Given the description of an element on the screen output the (x, y) to click on. 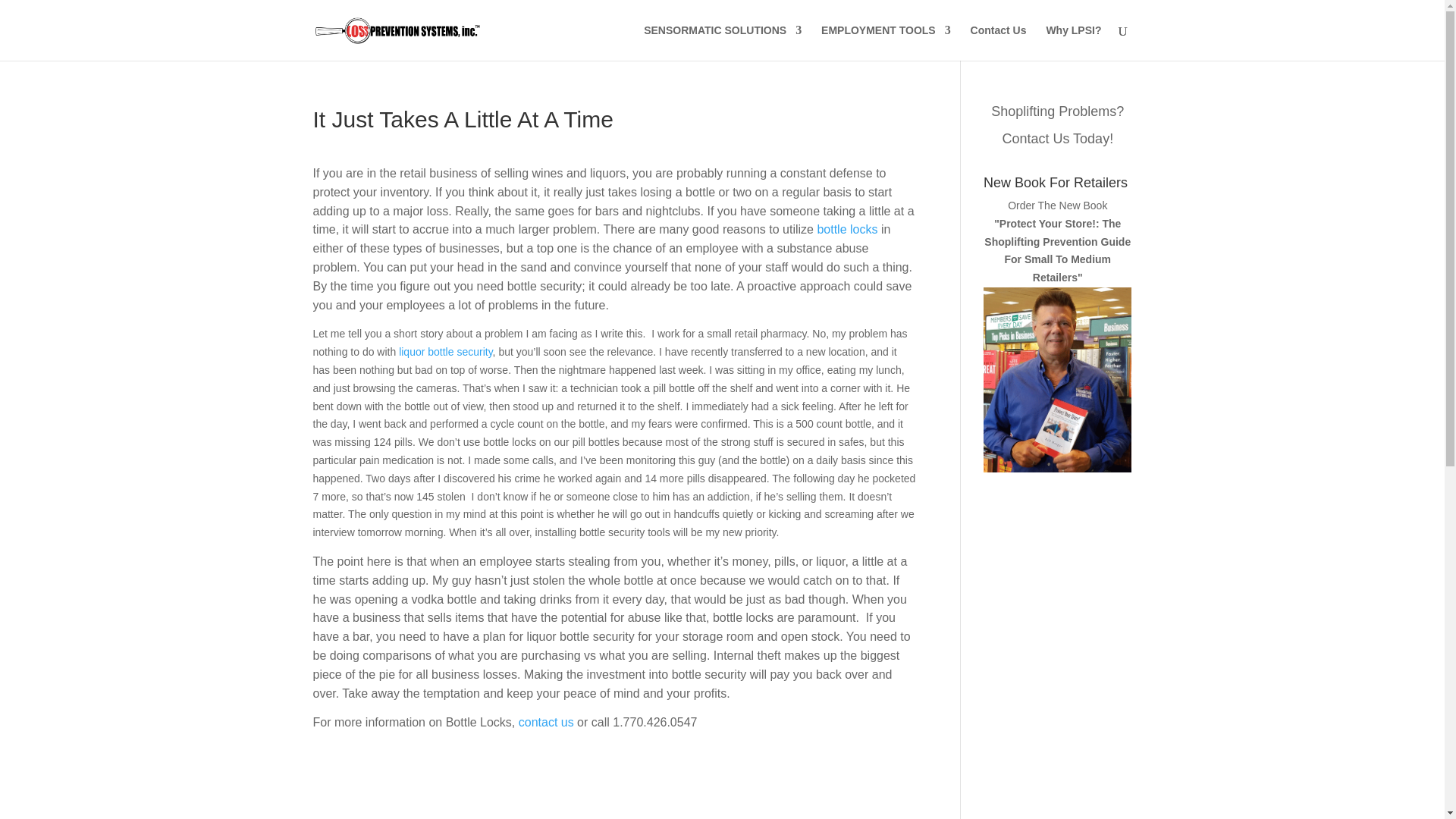
Why LPSI? (1072, 42)
SENSORMATIC SOLUTIONS (722, 42)
Shoplifting Problems? (1057, 111)
contact us (545, 721)
Contact Us (998, 42)
EMPLOYMENT TOOLS (885, 42)
bottle locks (846, 228)
liquor bottle security (445, 351)
Contact Us Today! (1057, 138)
